Given the description of an element on the screen output the (x, y) to click on. 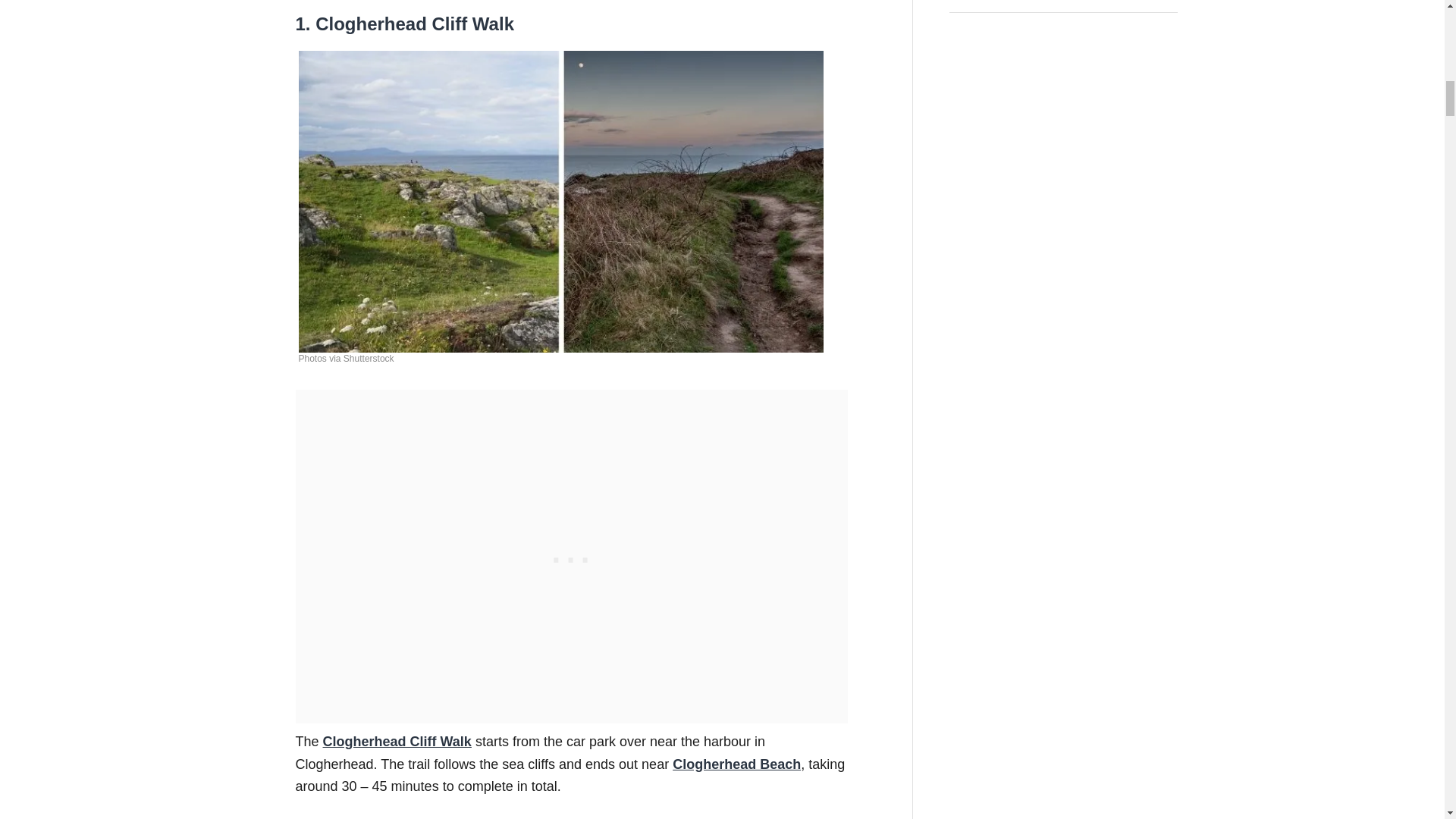
Clogherhead Cliff Walk (397, 741)
Clogherhead Beach (736, 764)
